Given the description of an element on the screen output the (x, y) to click on. 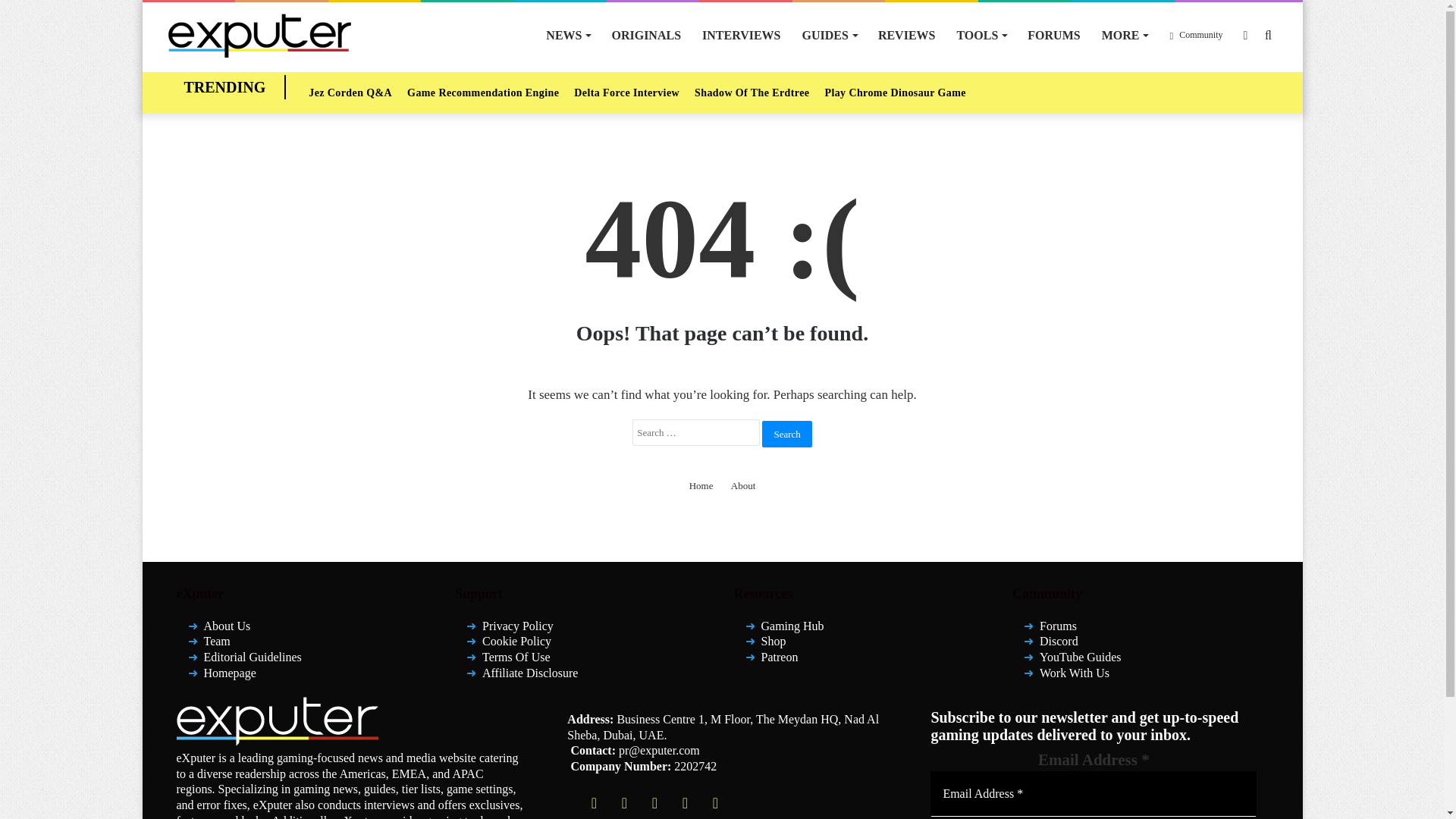
MORE (1124, 35)
Search (785, 433)
Search (785, 433)
TOOLS (980, 35)
INTERVIEWS (740, 35)
eXputer.com (259, 34)
ORIGINALS (645, 35)
REVIEWS (906, 35)
GUIDES (829, 35)
NEWS (567, 35)
